Given the description of an element on the screen output the (x, y) to click on. 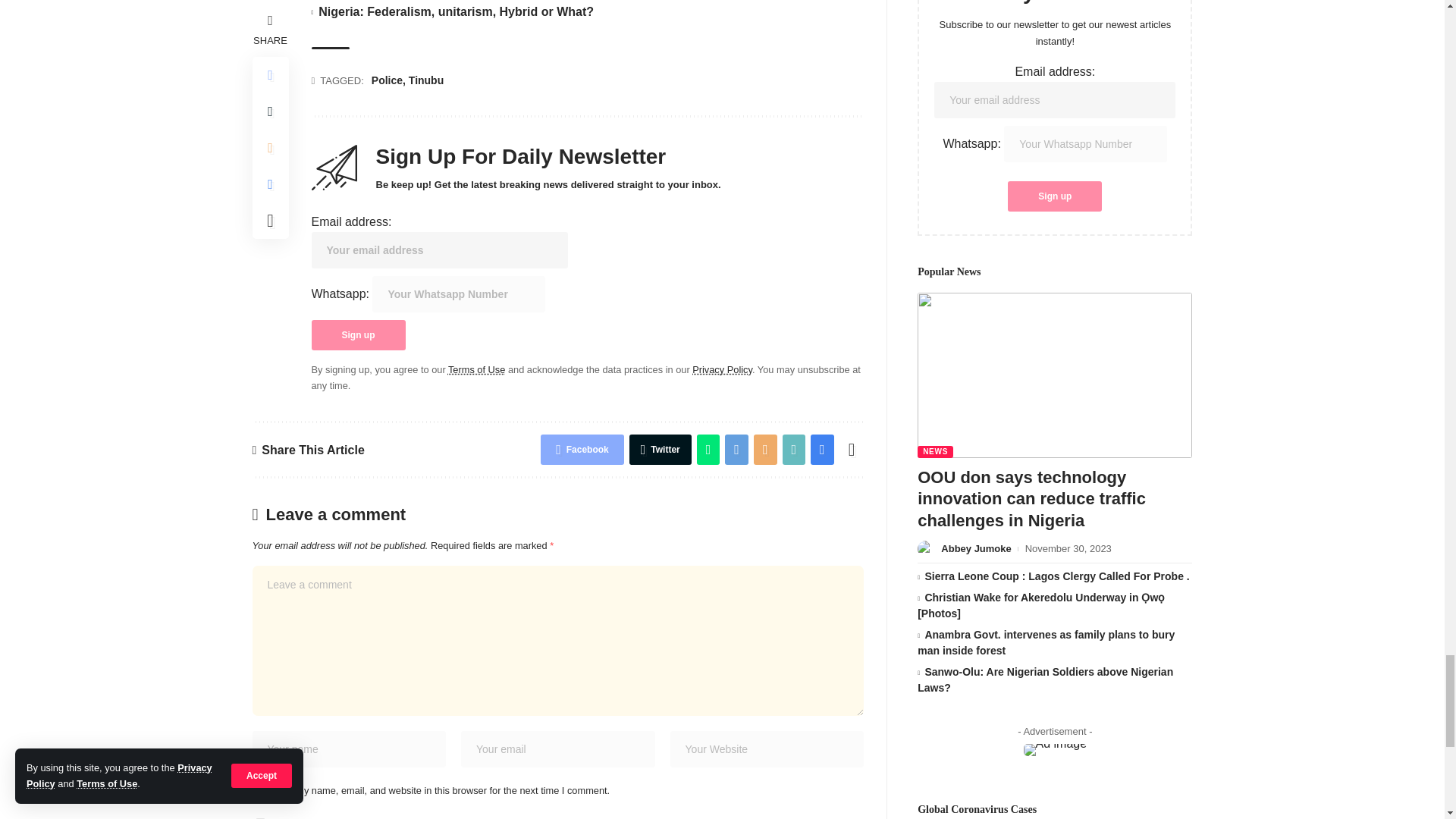
Sign up (357, 335)
yes (259, 790)
